Given the description of an element on the screen output the (x, y) to click on. 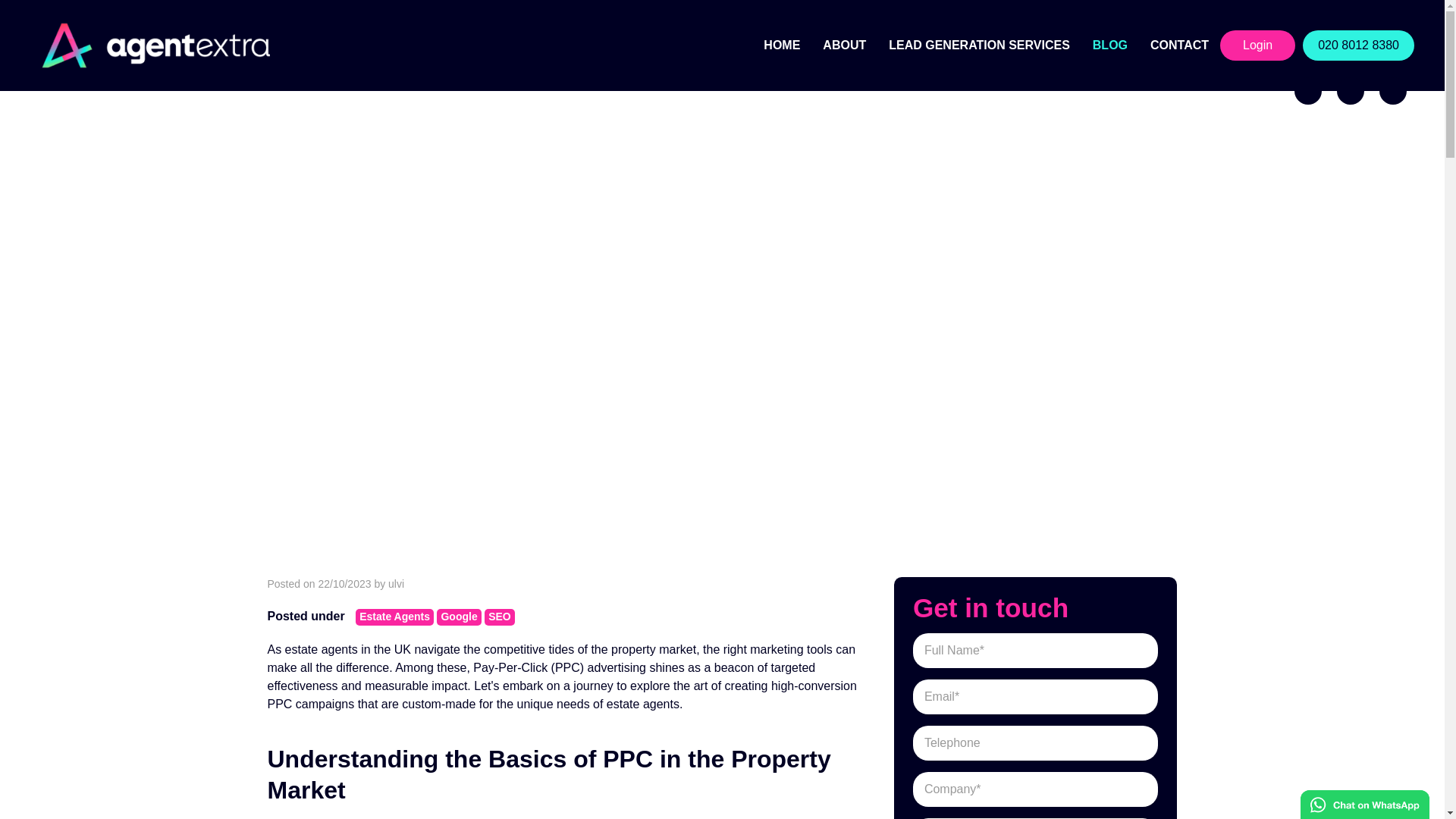
020 8012 8380 (1358, 45)
Agent Extra on linkedin (1392, 90)
Login (1257, 45)
Agent Extra on instagram (1350, 90)
Login to Agency Analytics (1257, 45)
CONTACT (1179, 45)
LEAD GENERATION SERVICES (979, 45)
Agent Extra on facebook (1308, 90)
